Given the description of an element on the screen output the (x, y) to click on. 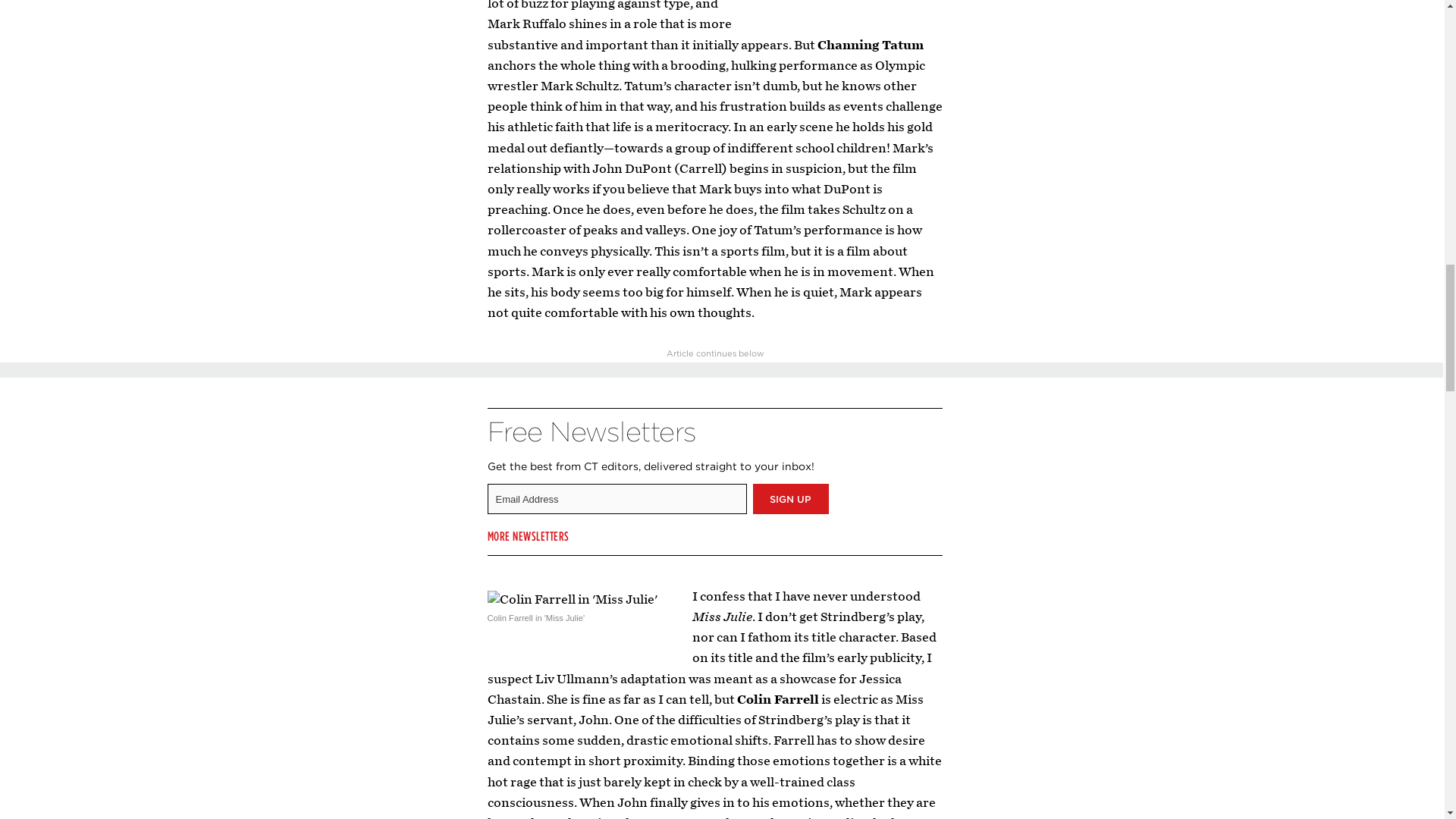
Email Address (615, 499)
Sign Up (790, 499)
